Given the description of an element on the screen output the (x, y) to click on. 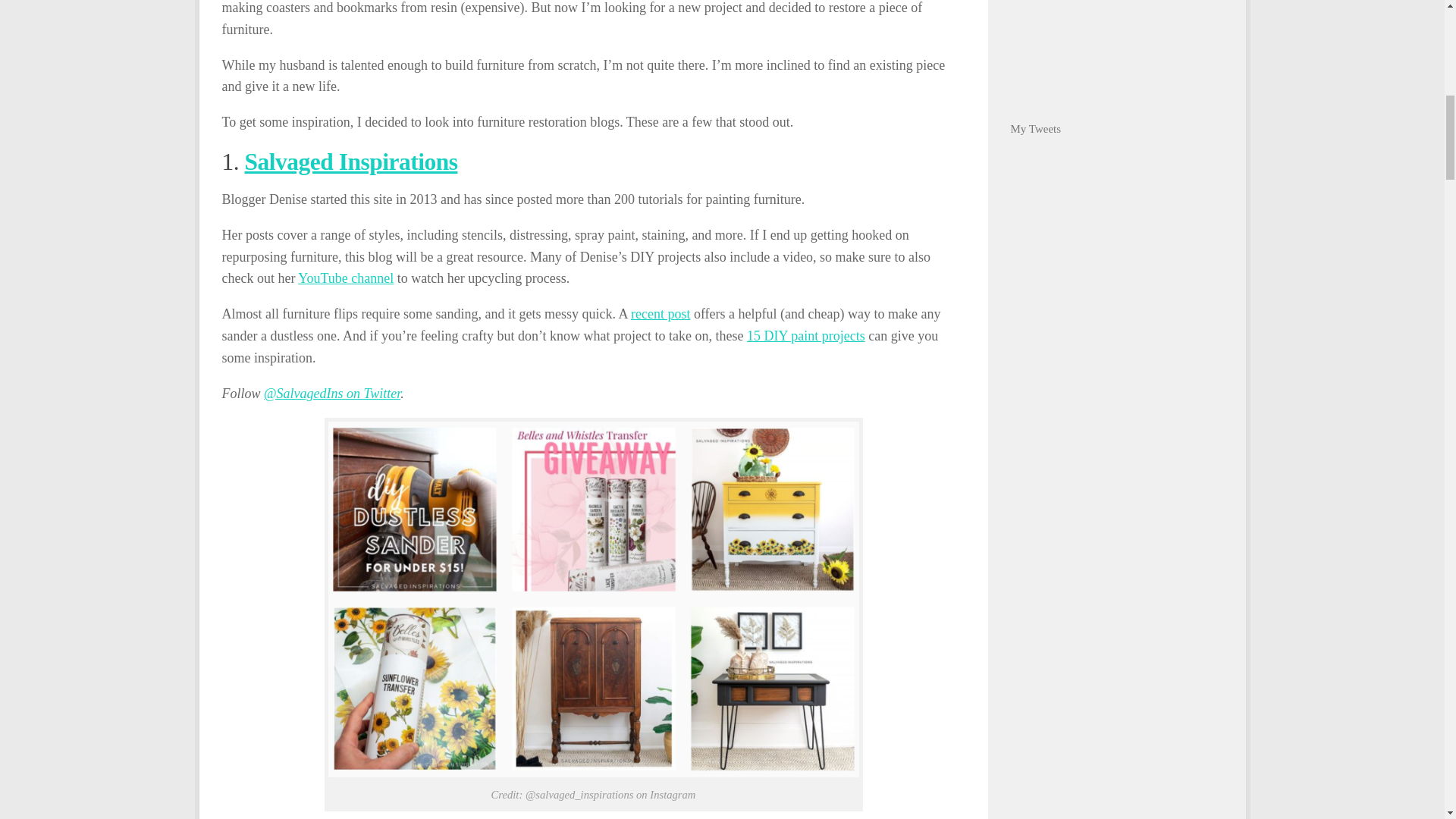
recent post (660, 313)
Salvaged Inspirations (350, 161)
YouTube channel (345, 278)
